Given the description of an element on the screen output the (x, y) to click on. 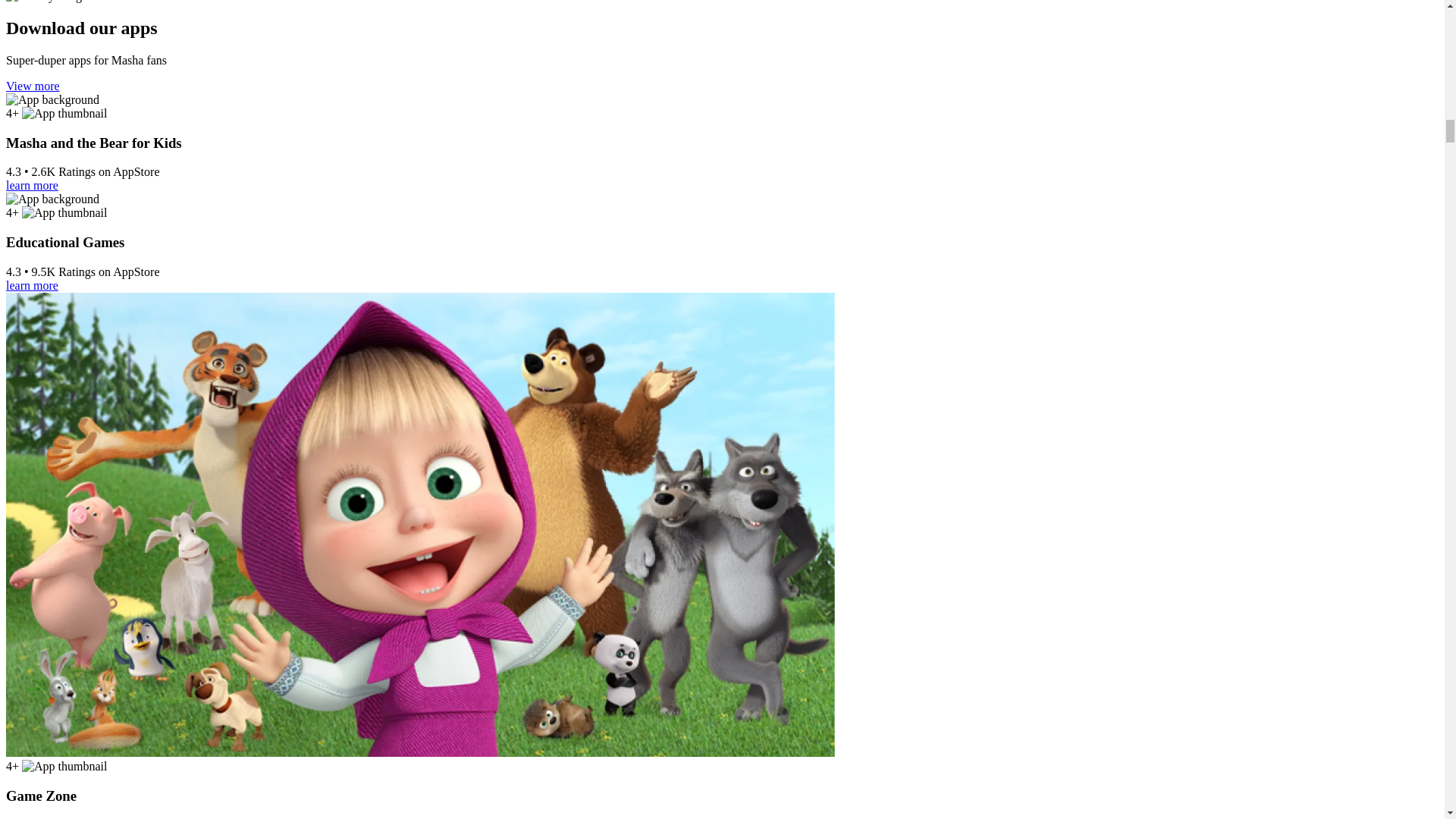
learn more (31, 285)
learn more (31, 185)
View more (32, 85)
